Given the description of an element on the screen output the (x, y) to click on. 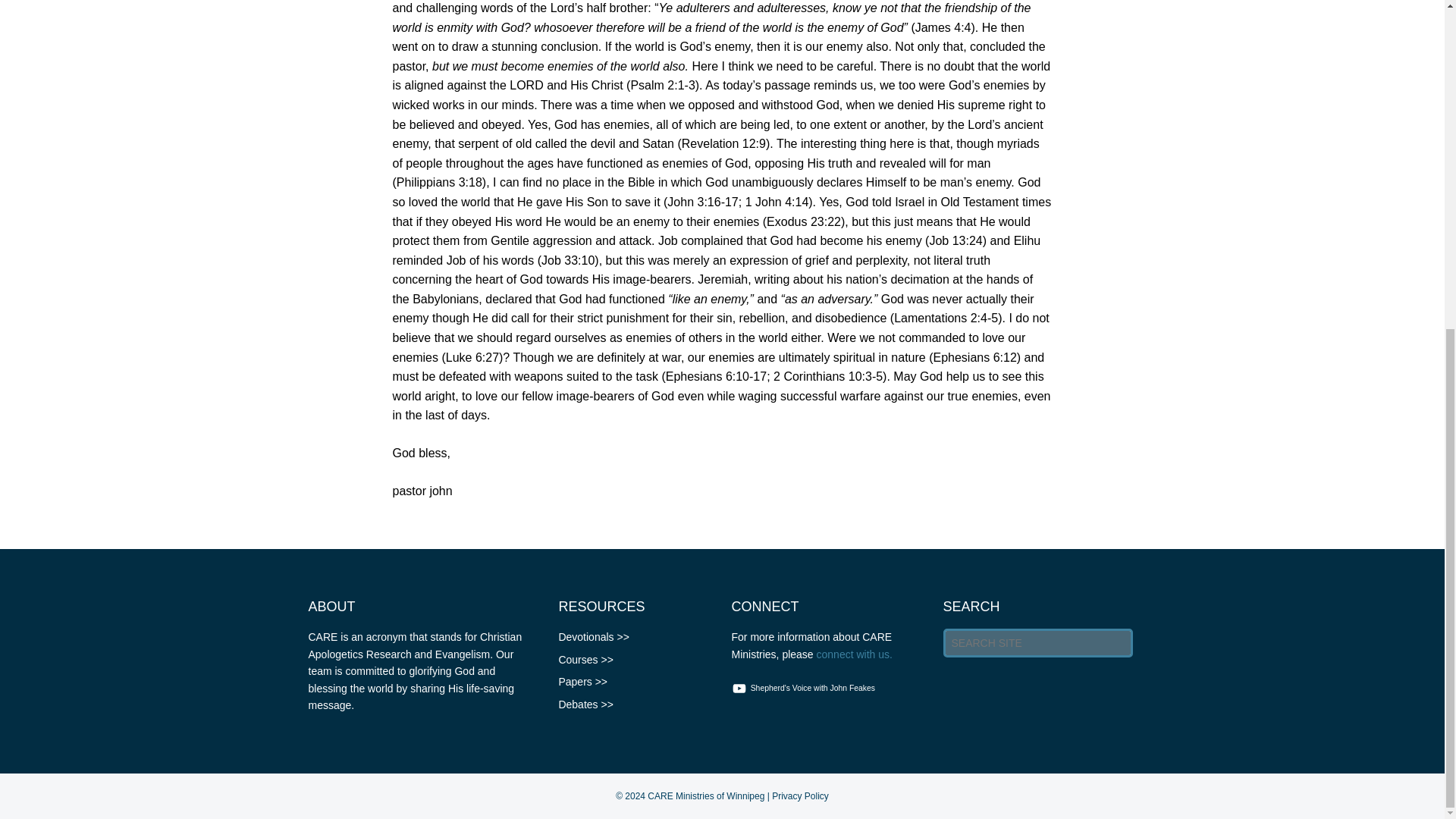
Shepherd's Voice with John Feakes (804, 688)
connect with us. (854, 654)
Privacy Policy (799, 796)
